Given the description of an element on the screen output the (x, y) to click on. 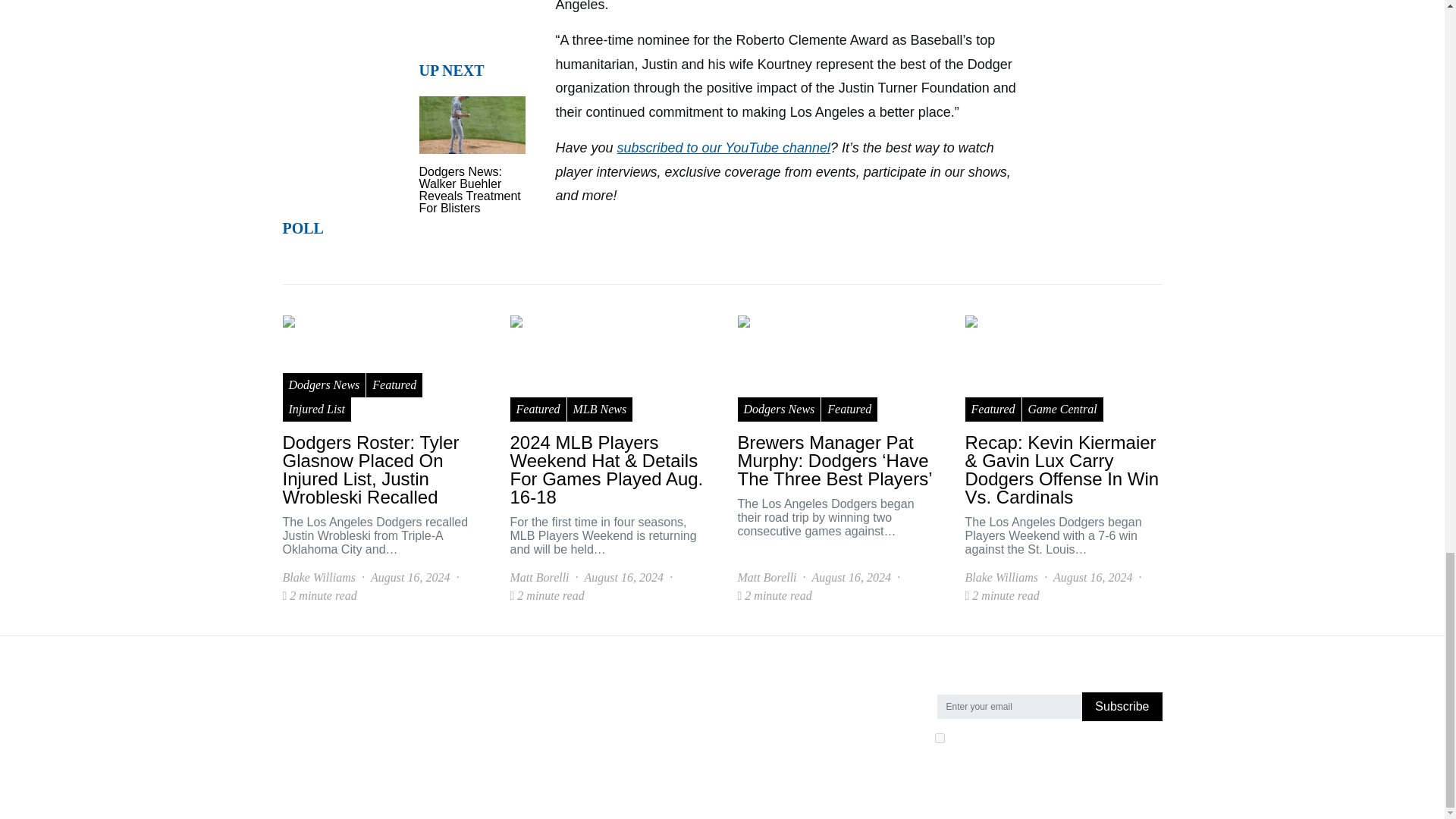
View all posts by Blake Williams (999, 577)
on (938, 737)
View all posts by Matt Borelli (766, 577)
View all posts by Matt Borelli (539, 577)
View all posts by Blake Williams (318, 577)
